Given the description of an element on the screen output the (x, y) to click on. 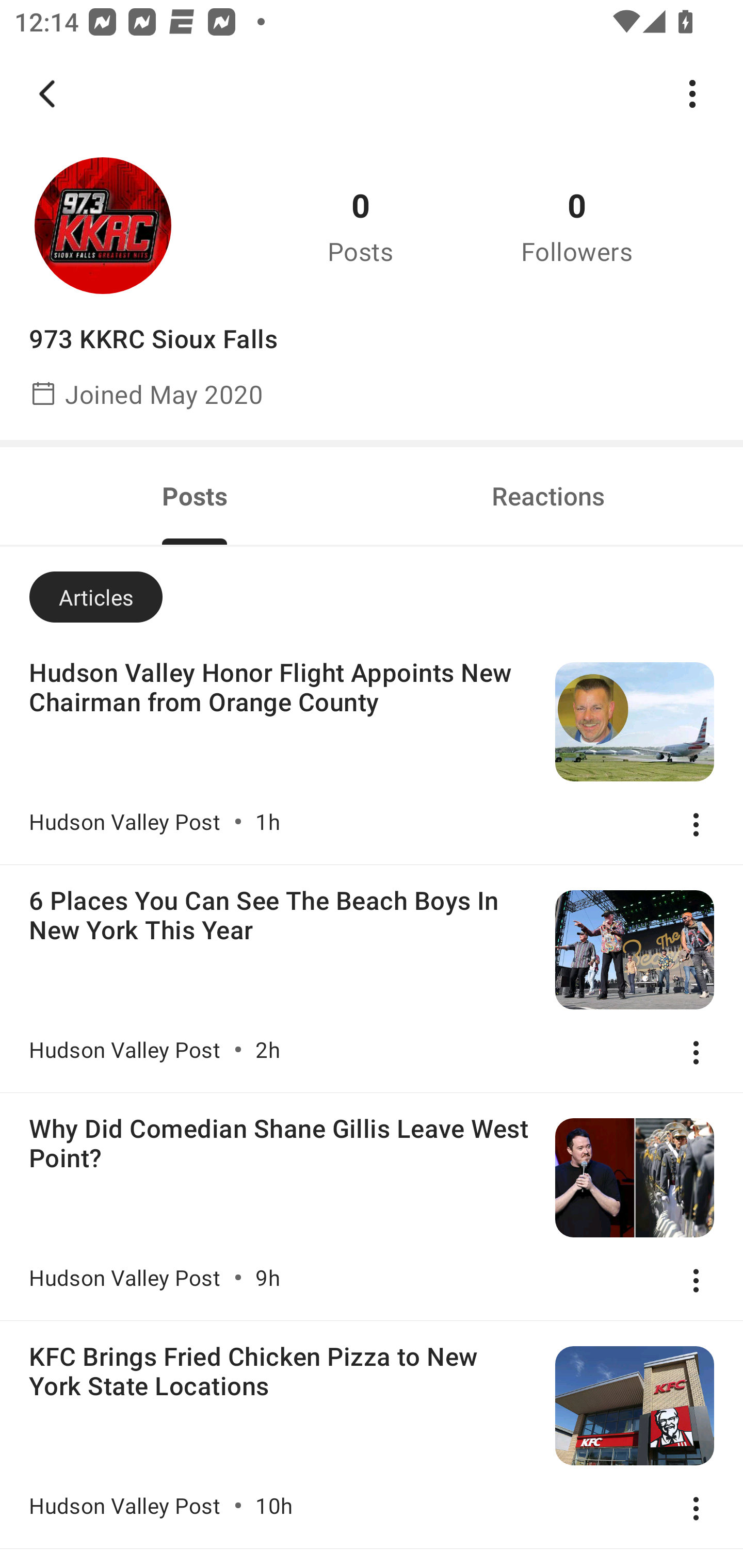
Reactions (548, 495)
